Given the description of an element on the screen output the (x, y) to click on. 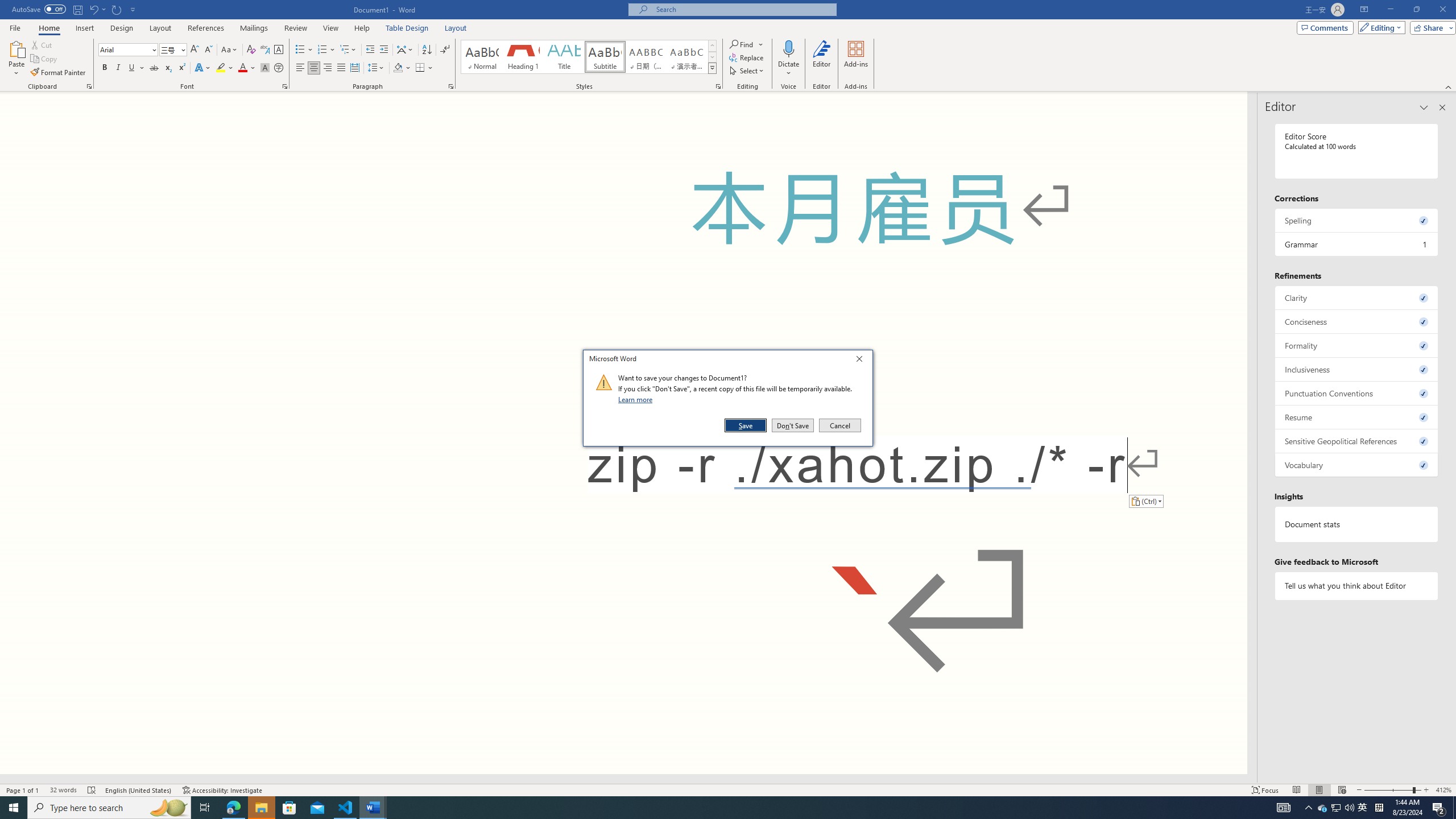
Font Color Red (241, 67)
Clarity, 0 issues. Press space or enter to review items. (1356, 297)
